Given the description of an element on the screen output the (x, y) to click on. 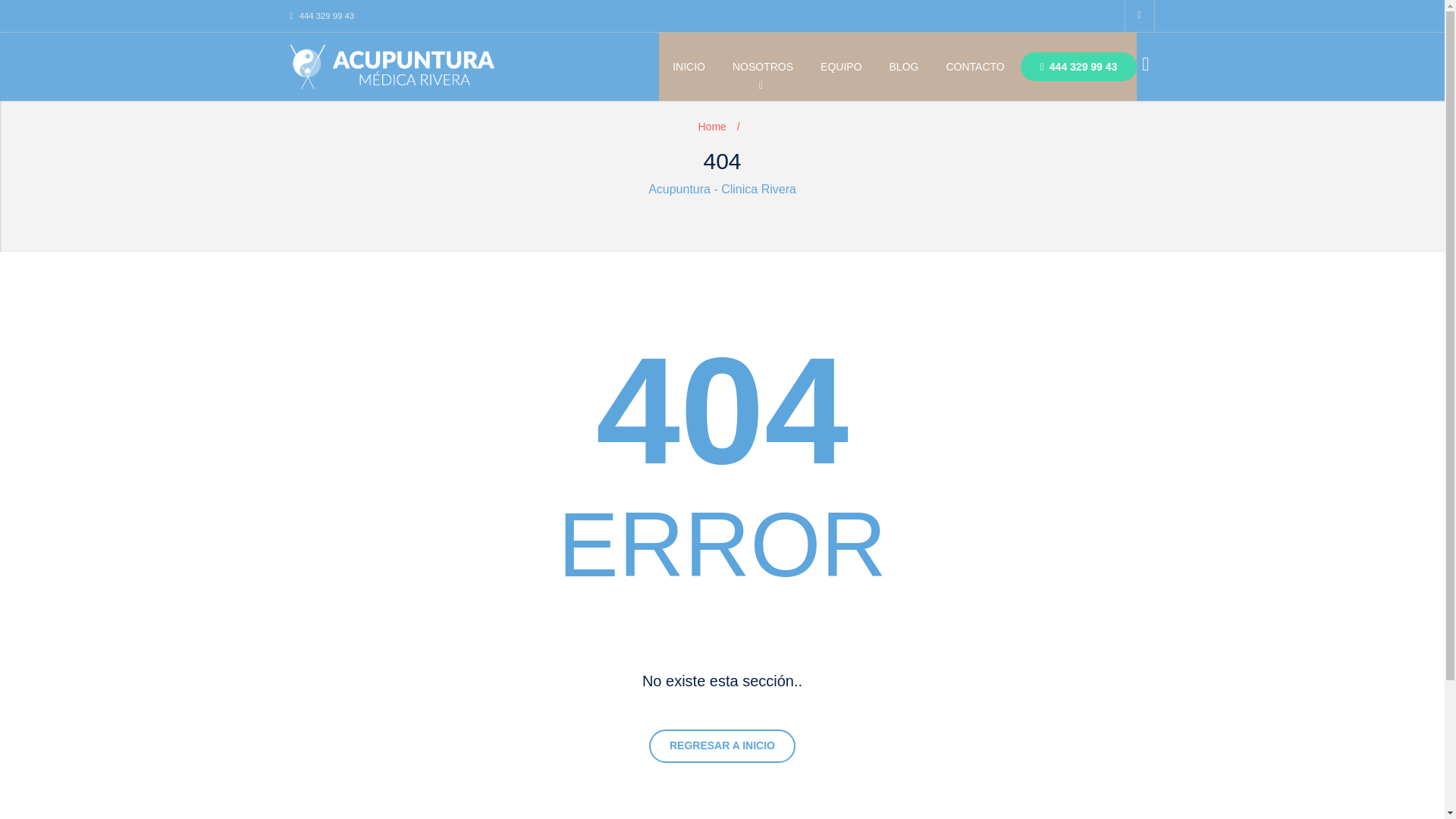
INICIO (688, 66)
NOSOTROS (762, 66)
BLOG (903, 66)
Home (711, 126)
EQUIPO (840, 66)
444 329 99 43 (1078, 66)
CONTACTO (974, 66)
REGRESAR A INICIO (721, 745)
444 329 99 43 (321, 15)
